Given the description of an element on the screen output the (x, y) to click on. 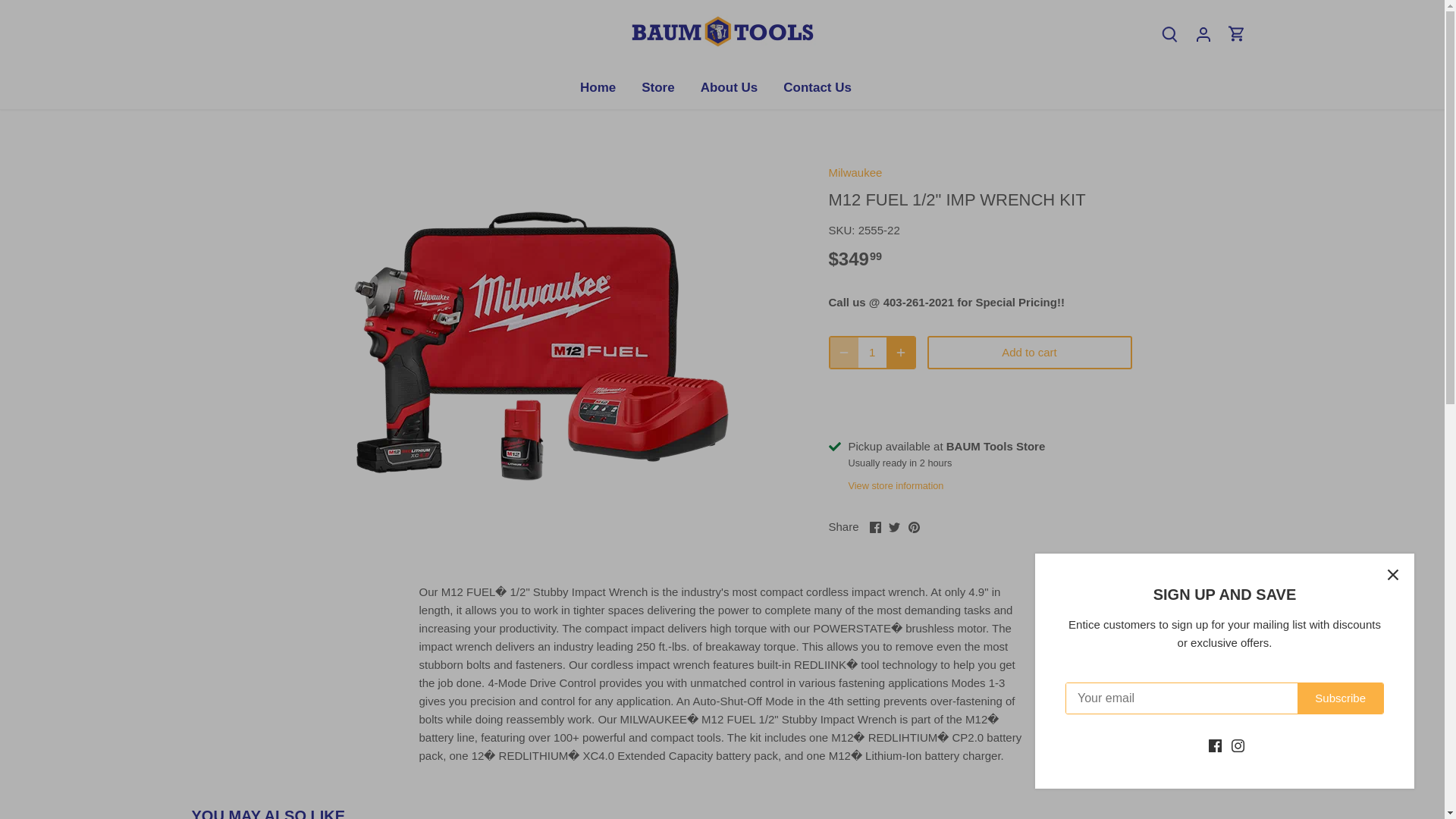
Facebook (874, 527)
Contact Us (817, 87)
Store (657, 87)
Add to cart (1028, 352)
1 (872, 352)
About Us (729, 87)
View store information (895, 484)
Twitter (893, 527)
Home (603, 87)
Pinterest (914, 527)
Milwaukee (855, 172)
